Given the description of an element on the screen output the (x, y) to click on. 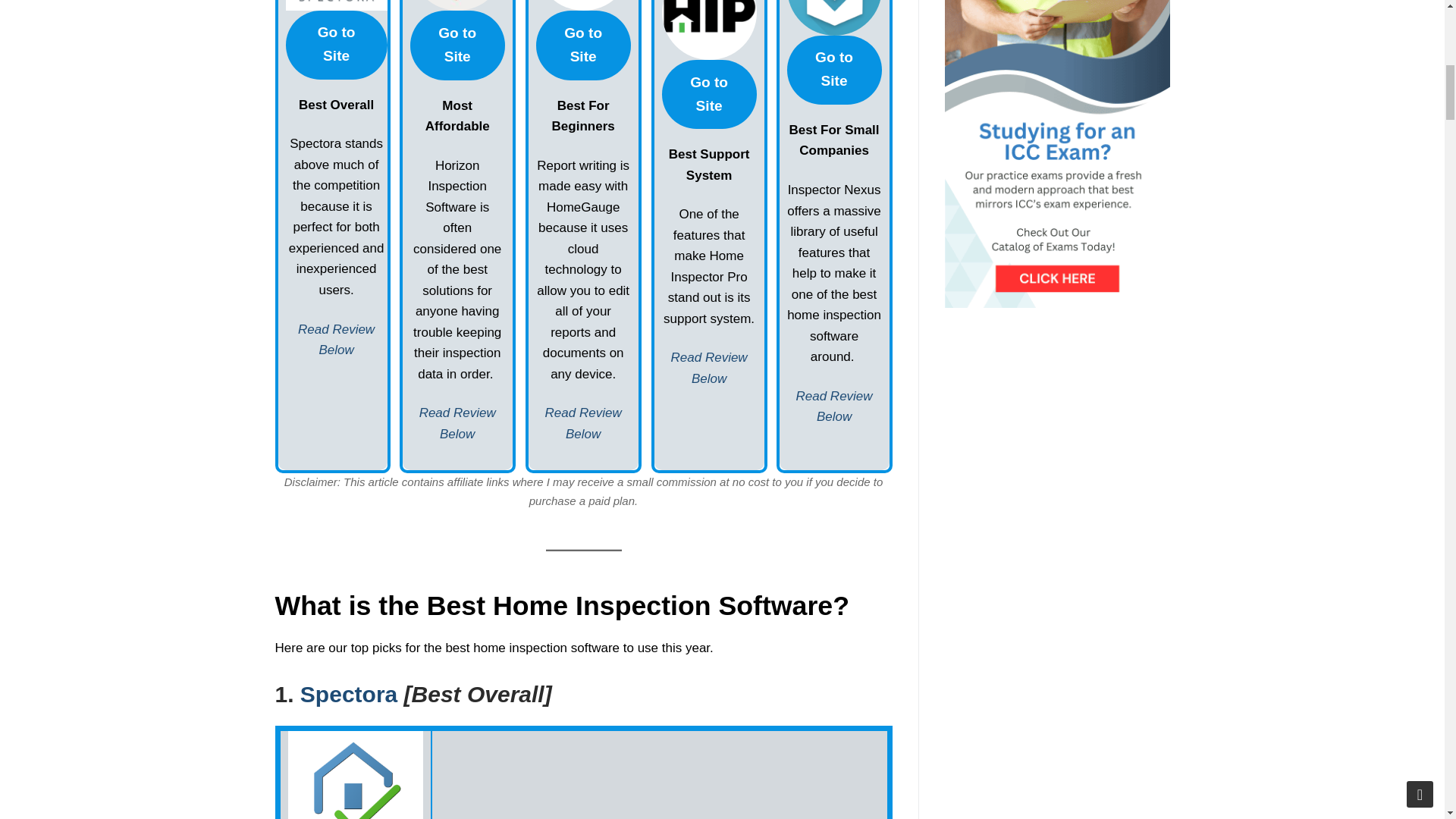
Go to Site (336, 44)
Go to Site (582, 44)
Read Review Below (834, 407)
Go to Site (834, 70)
Go to Site (457, 44)
Read Review Below (336, 339)
Read Review Below (457, 423)
Read Review Below (709, 367)
Go to Site (709, 93)
Spectora (348, 693)
